Given the description of an element on the screen output the (x, y) to click on. 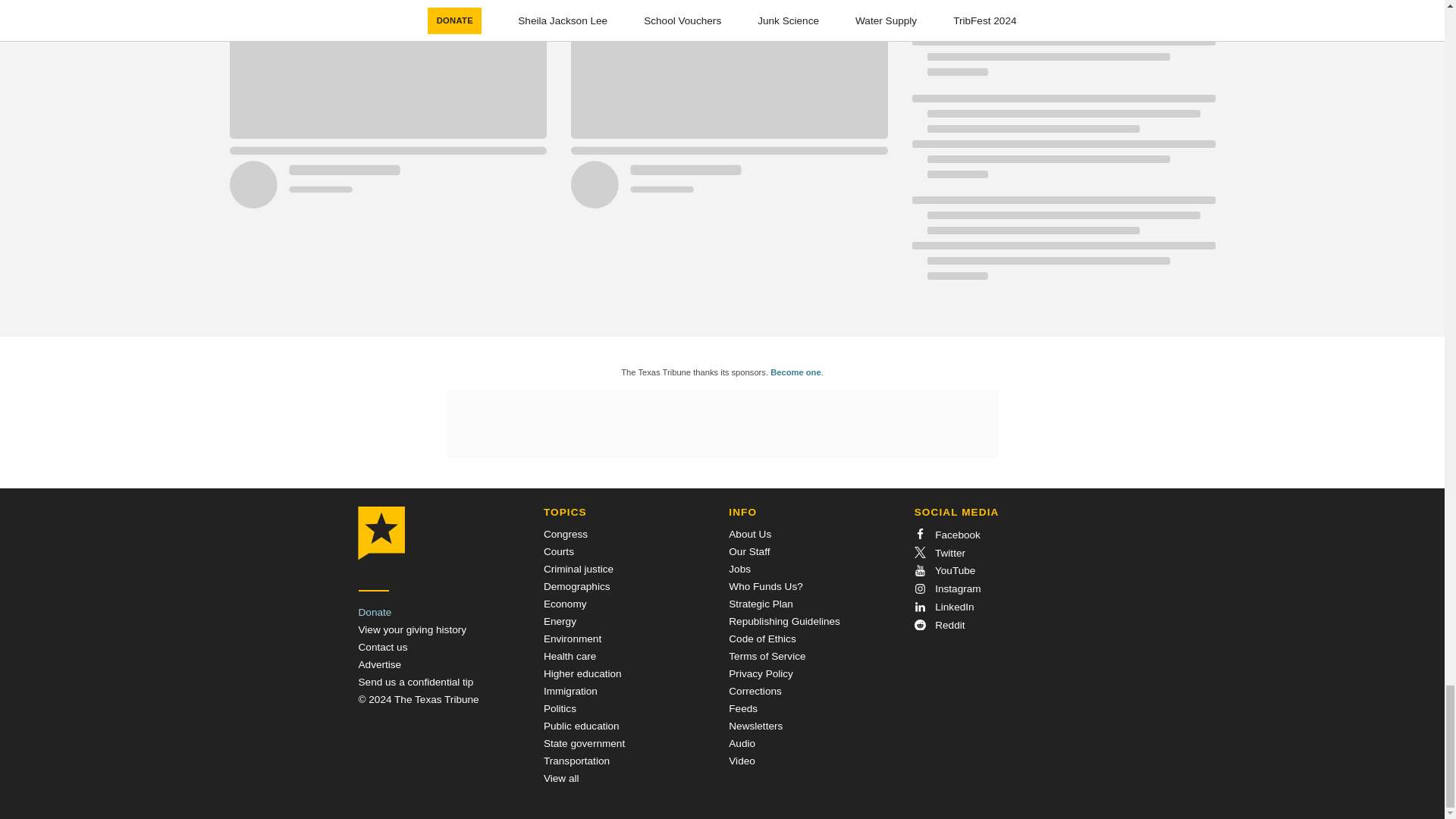
Donate (374, 612)
Corrections (755, 690)
Video (742, 760)
Advertise (379, 664)
Audio (742, 743)
Send a Tip (415, 681)
Newsletters (756, 726)
Contact us (382, 646)
Strategic Plan (761, 603)
View your giving history (411, 629)
Republishing Guidelines (784, 621)
Privacy Policy (761, 673)
Terms of Service (767, 655)
Facebook (946, 534)
Code of Ethics (761, 638)
